Given the description of an element on the screen output the (x, y) to click on. 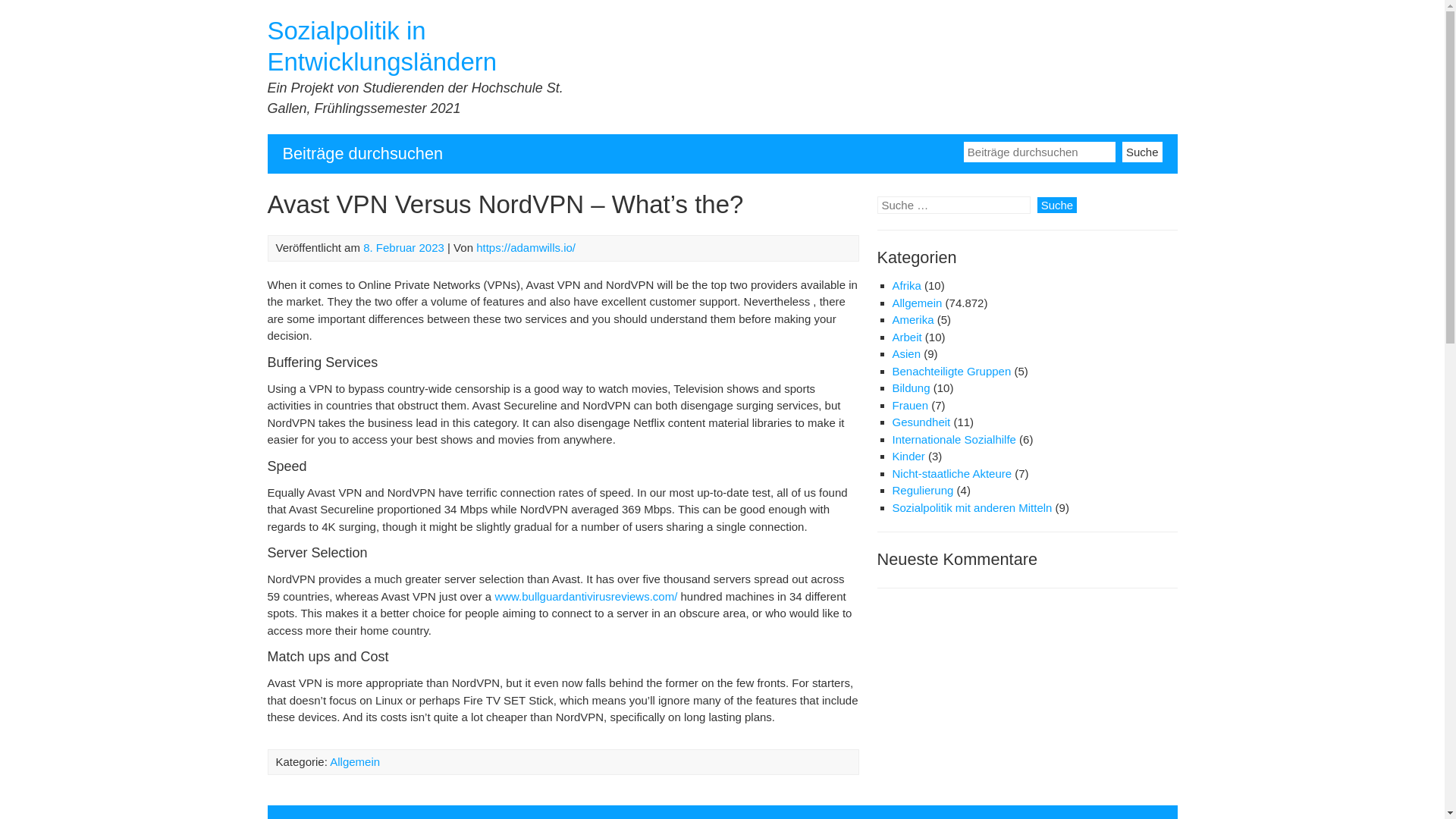
Allgemein (355, 761)
Suche (1141, 150)
Regulierung (922, 490)
Bildung (910, 387)
Gesundheit (920, 421)
Kinder (907, 455)
Suche (1056, 204)
Afrika (905, 285)
Arbeit (906, 336)
Amerika (912, 318)
